Given the description of an element on the screen output the (x, y) to click on. 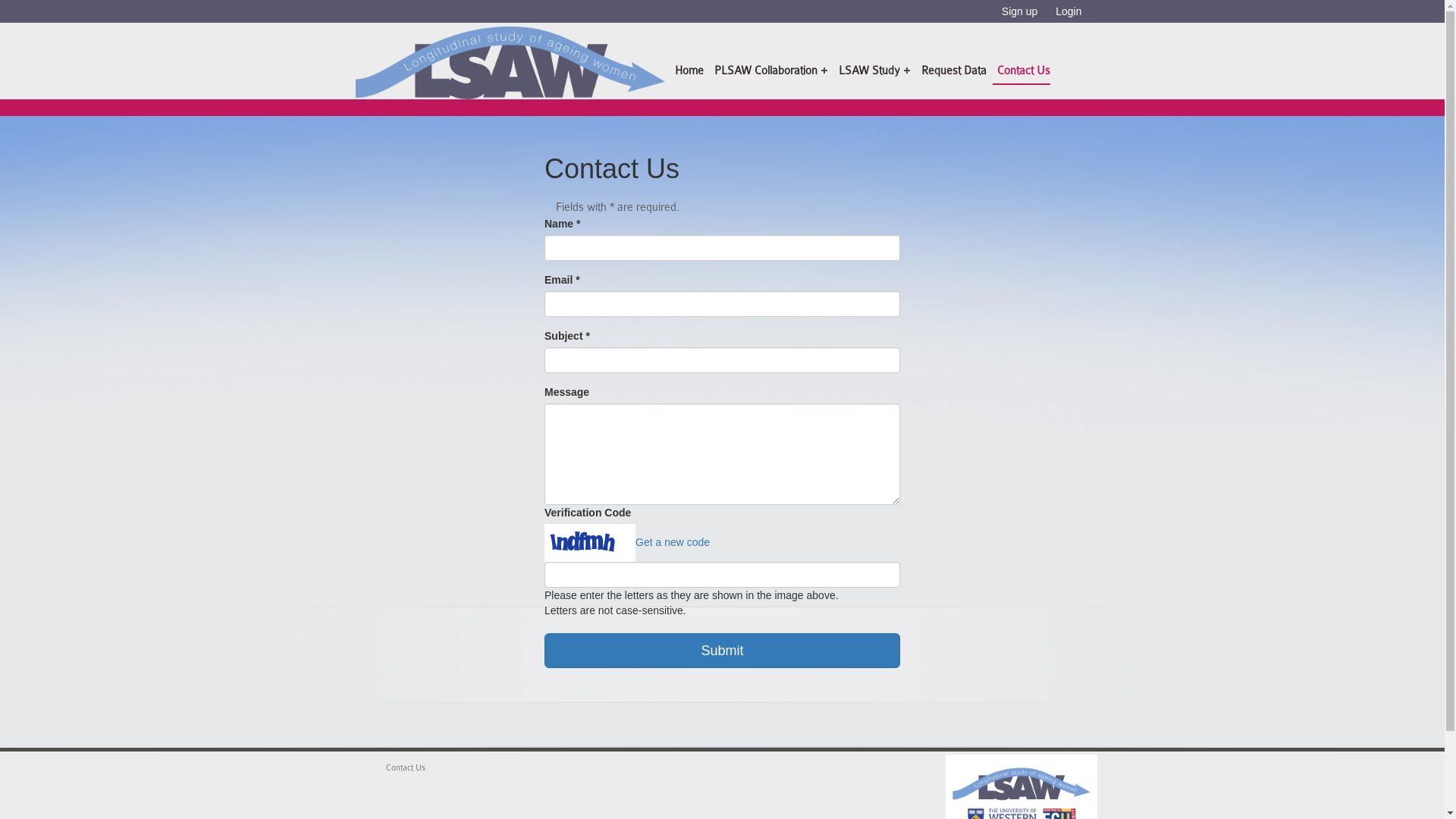
Contact Us Element type: text (404, 767)
Sign up Element type: text (1021, 11)
Get a new code Element type: text (672, 542)
PLSAW Collaboration Element type: text (768, 72)
LSAW Study Element type: text (872, 72)
Contact Us Element type: text (1021, 73)
Login Element type: text (1068, 11)
Submit Element type: text (722, 650)
Request Data Element type: text (951, 73)
Home Element type: text (686, 73)
